Given the description of an element on the screen output the (x, y) to click on. 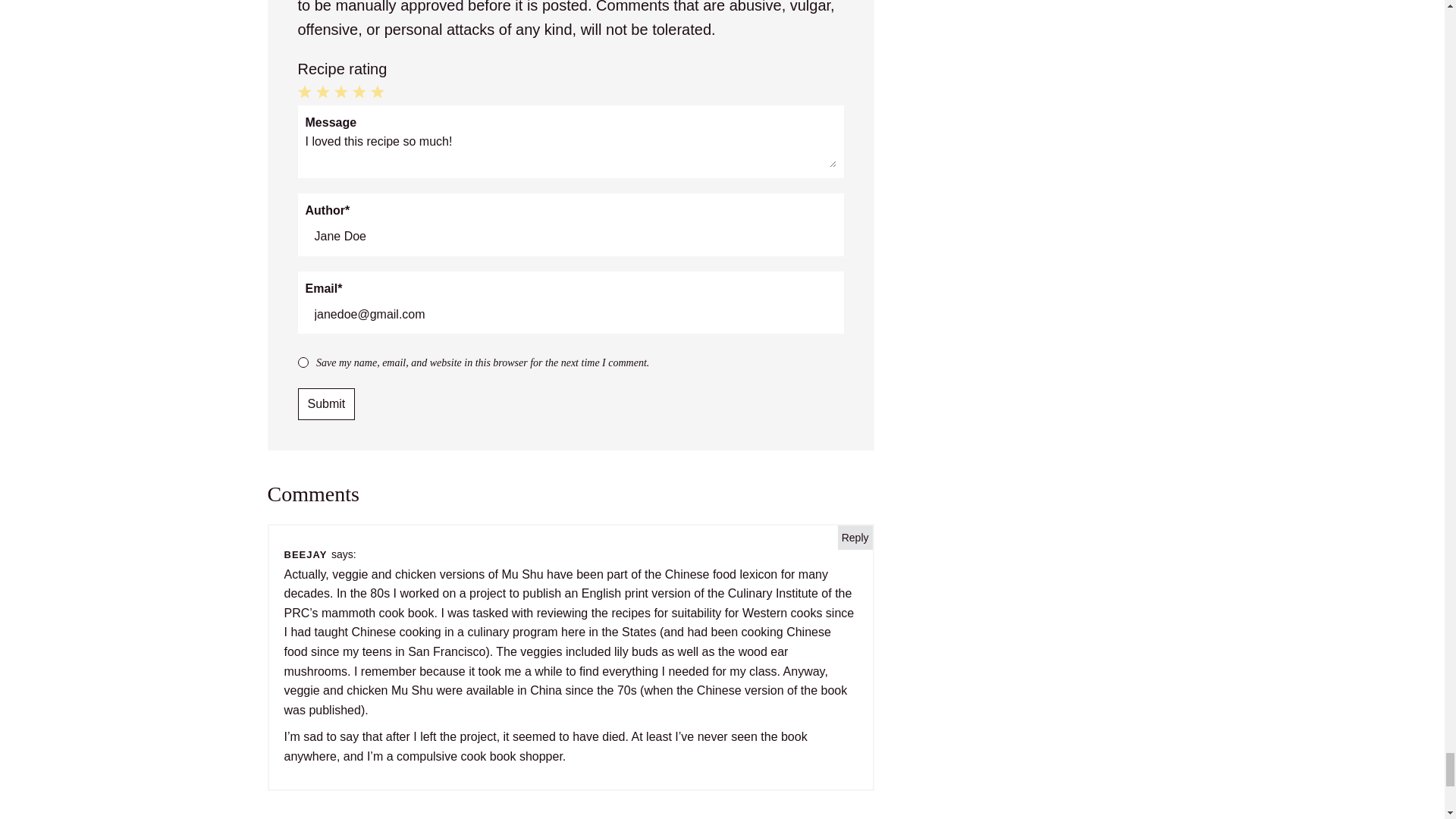
yes (302, 362)
Submit (326, 404)
